Given the description of an element on the screen output the (x, y) to click on. 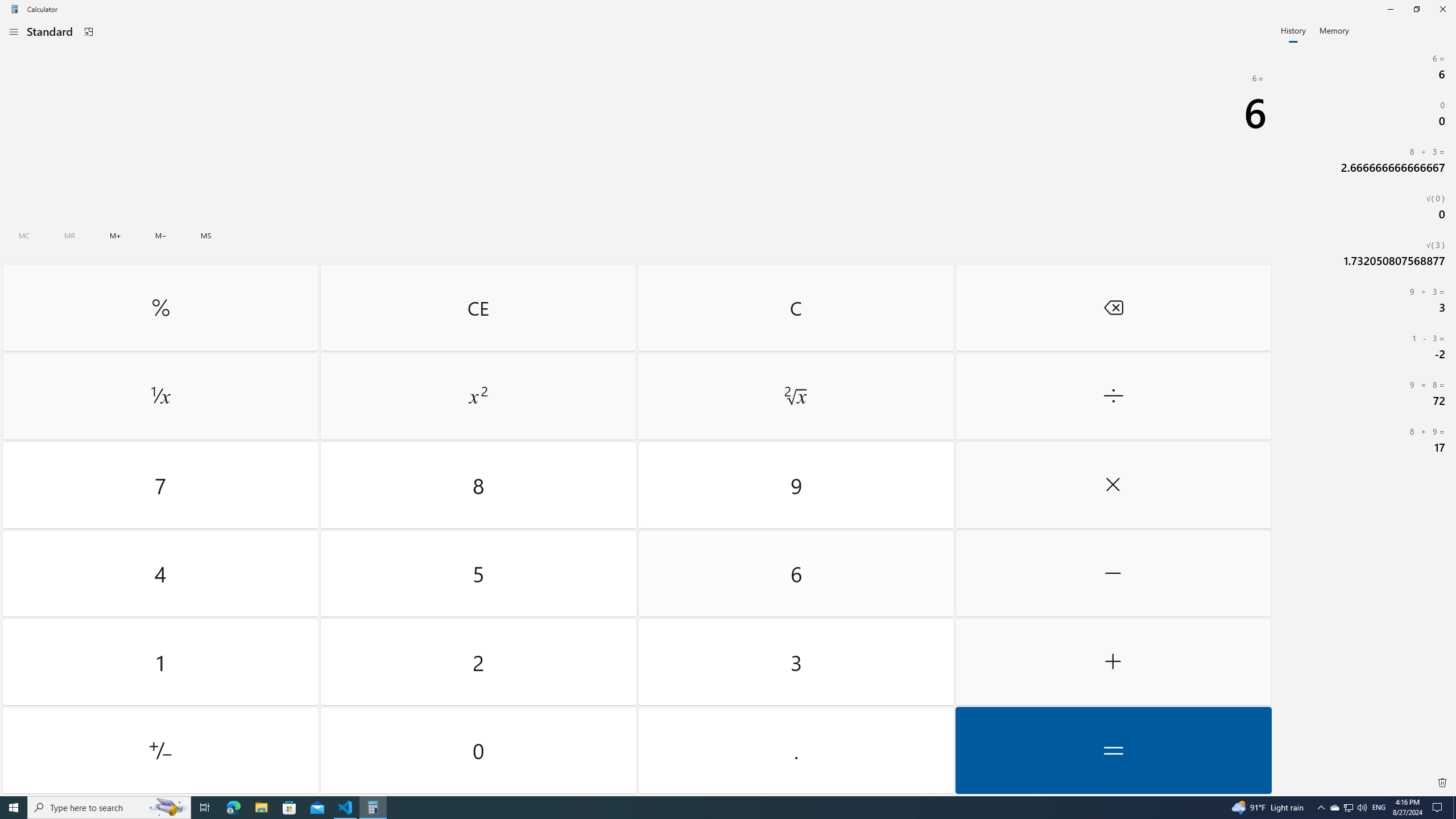
Clear (795, 307)
6= 6 (1364, 66)
Multiply by (1113, 485)
Zero (478, 749)
Keep on top (88, 31)
Backspace (1113, 307)
Memory subtract (160, 235)
Decimal separator (795, 749)
Minus (1113, 572)
Memory add (115, 235)
Positive negative (160, 749)
